Given the description of an element on the screen output the (x, y) to click on. 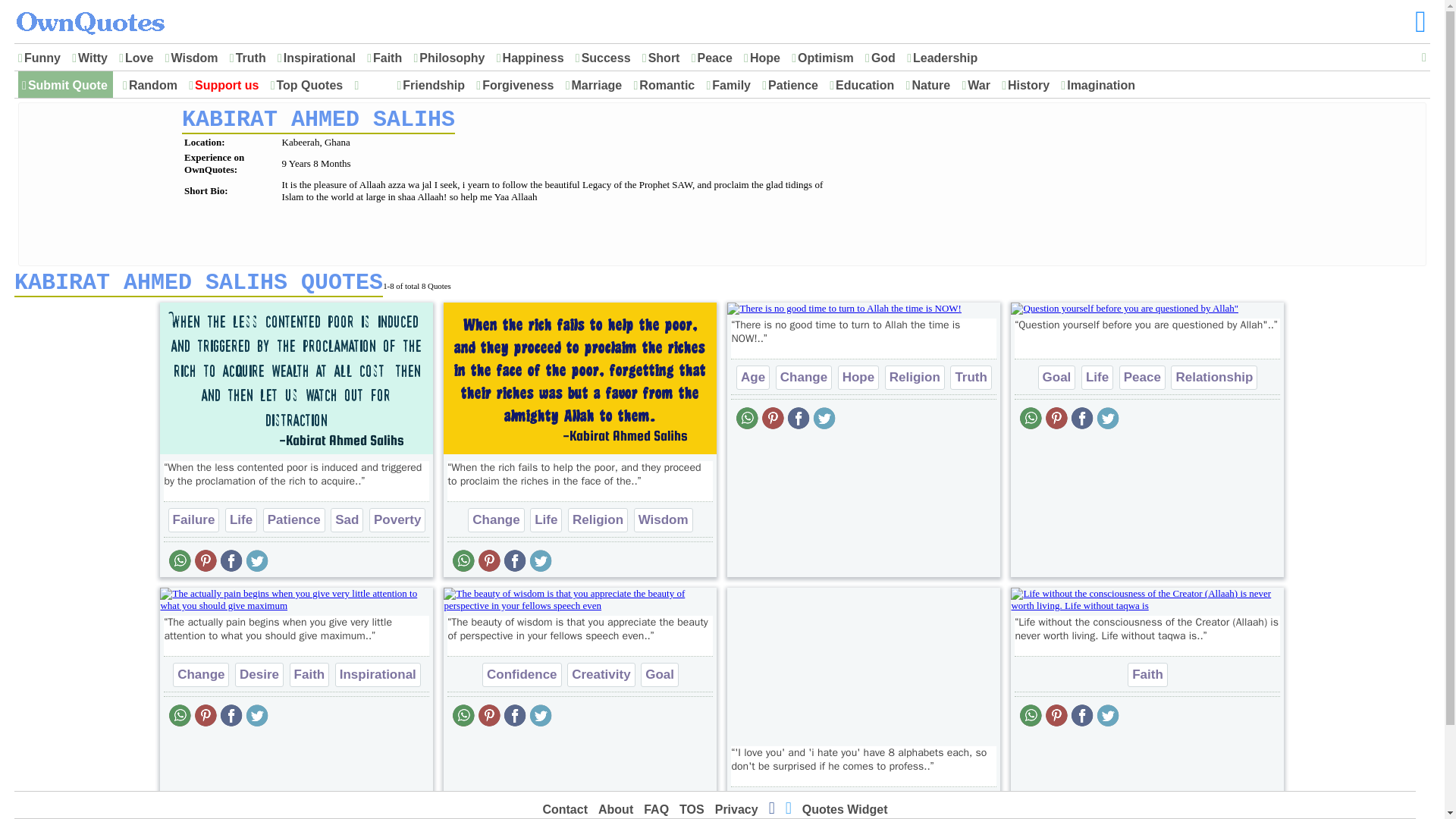
New (372, 85)
Happiness (533, 57)
Funny (42, 57)
Success (605, 57)
History (1028, 85)
Top Quotes (309, 85)
Patience (792, 85)
Friendship (433, 85)
Witty (92, 57)
Peace (715, 57)
Leadership (945, 57)
Random (152, 85)
Love (138, 57)
Wisdom (194, 57)
Short (664, 57)
